Given the description of an element on the screen output the (x, y) to click on. 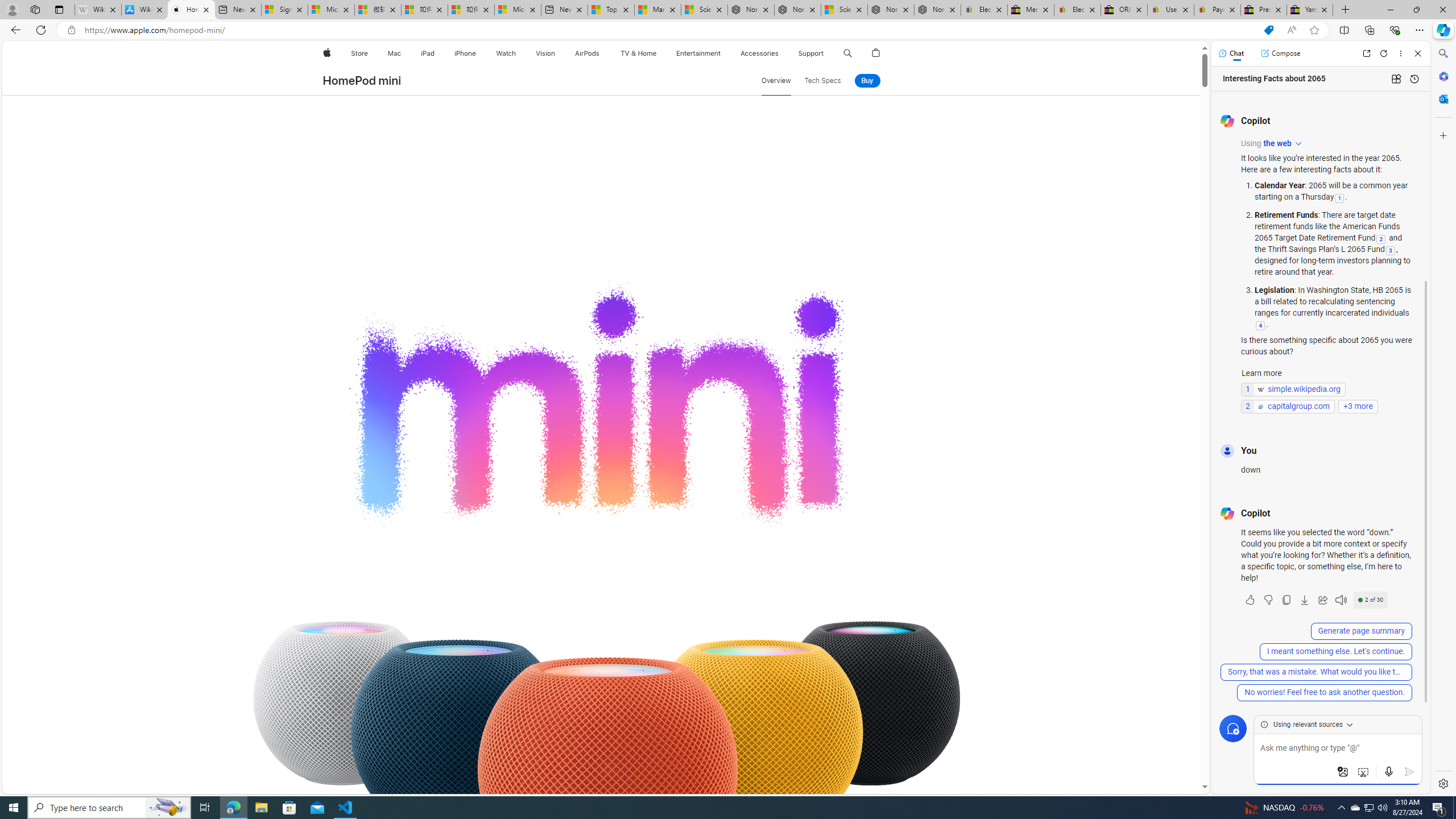
TV and Home (637, 53)
HomePod mini (361, 80)
HomePod mini - Apple (191, 9)
Vision (545, 53)
Accessories (759, 53)
Vision menu (557, 53)
iPhone menu (477, 53)
